Given the description of an element on the screen output the (x, y) to click on. 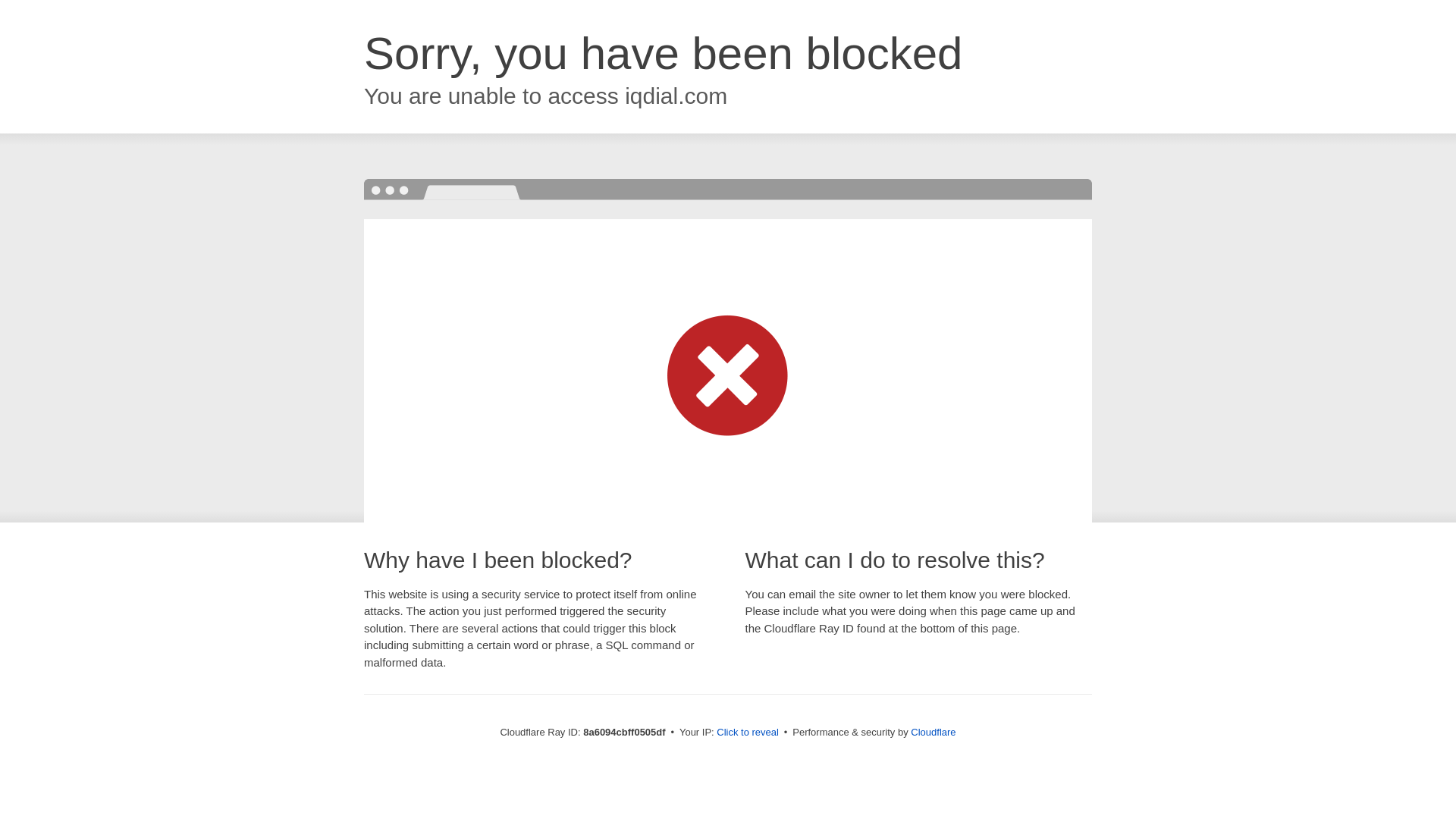
Click to reveal (747, 732)
Cloudflare (933, 731)
